Given the description of an element on the screen output the (x, y) to click on. 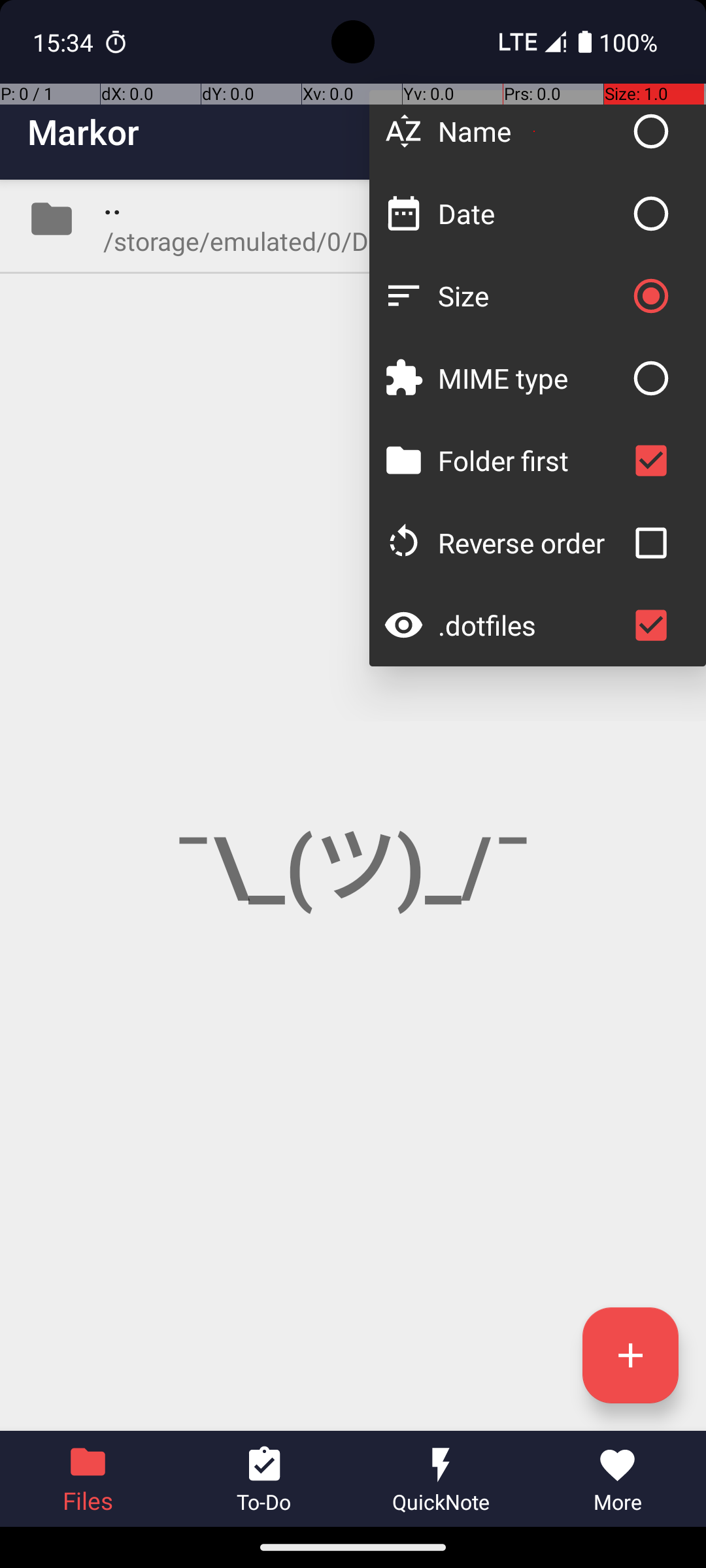
Folder first Element type: android.widget.TextView (530, 459)
Reverse order Element type: android.widget.TextView (530, 542)
.dotfiles Element type: android.widget.TextView (530, 624)
